Given the description of an element on the screen output the (x, y) to click on. 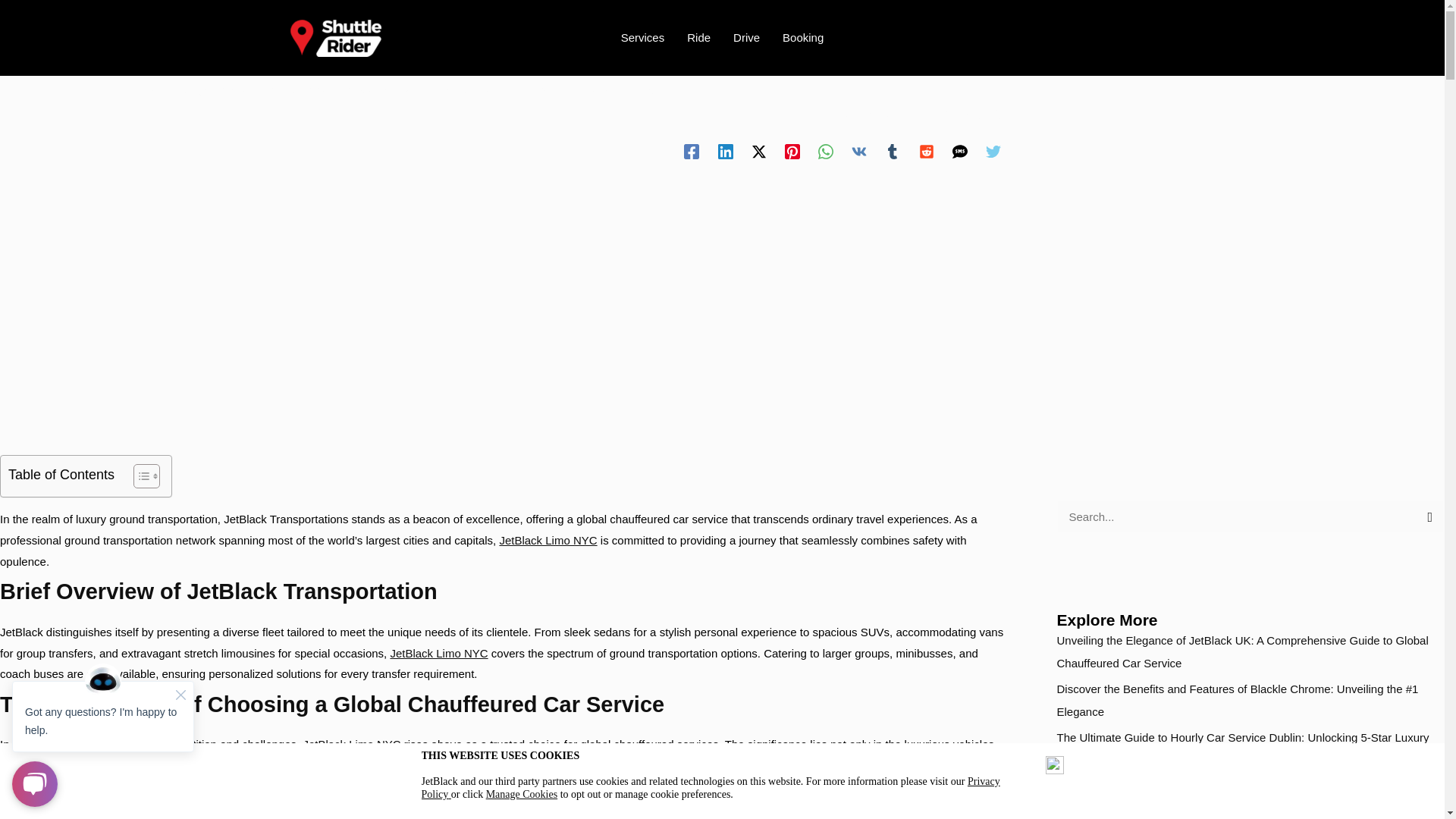
Search (1426, 515)
blog (189, 89)
Home (151, 89)
Search (1426, 515)
